Given the description of an element on the screen output the (x, y) to click on. 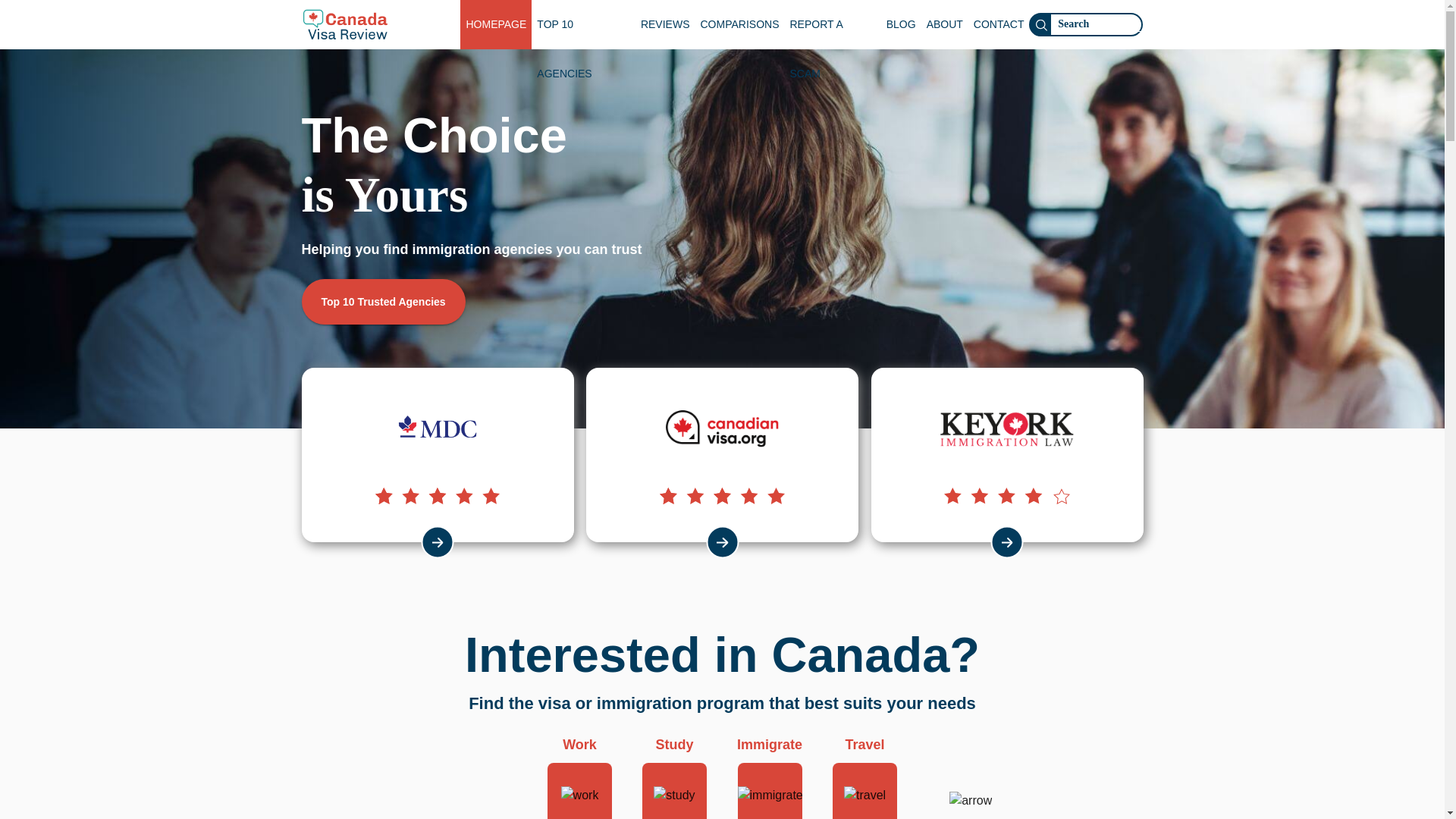
COMPARISONS (739, 24)
REPORT A SCAM (832, 24)
REPORT A SCAM (832, 24)
HOMEPAGE (495, 24)
COMPARISONS (739, 24)
ABOUT (944, 24)
ABOUT (944, 24)
REVIEWS (664, 24)
top 10 trusted agencies (383, 301)
HOMEPAGE (495, 24)
CONTACT (998, 24)
TOP 10 AGENCIES (582, 24)
REVIEWS (664, 24)
Canada Visa Review (344, 24)
CONTACT (998, 24)
